Given the description of an element on the screen output the (x, y) to click on. 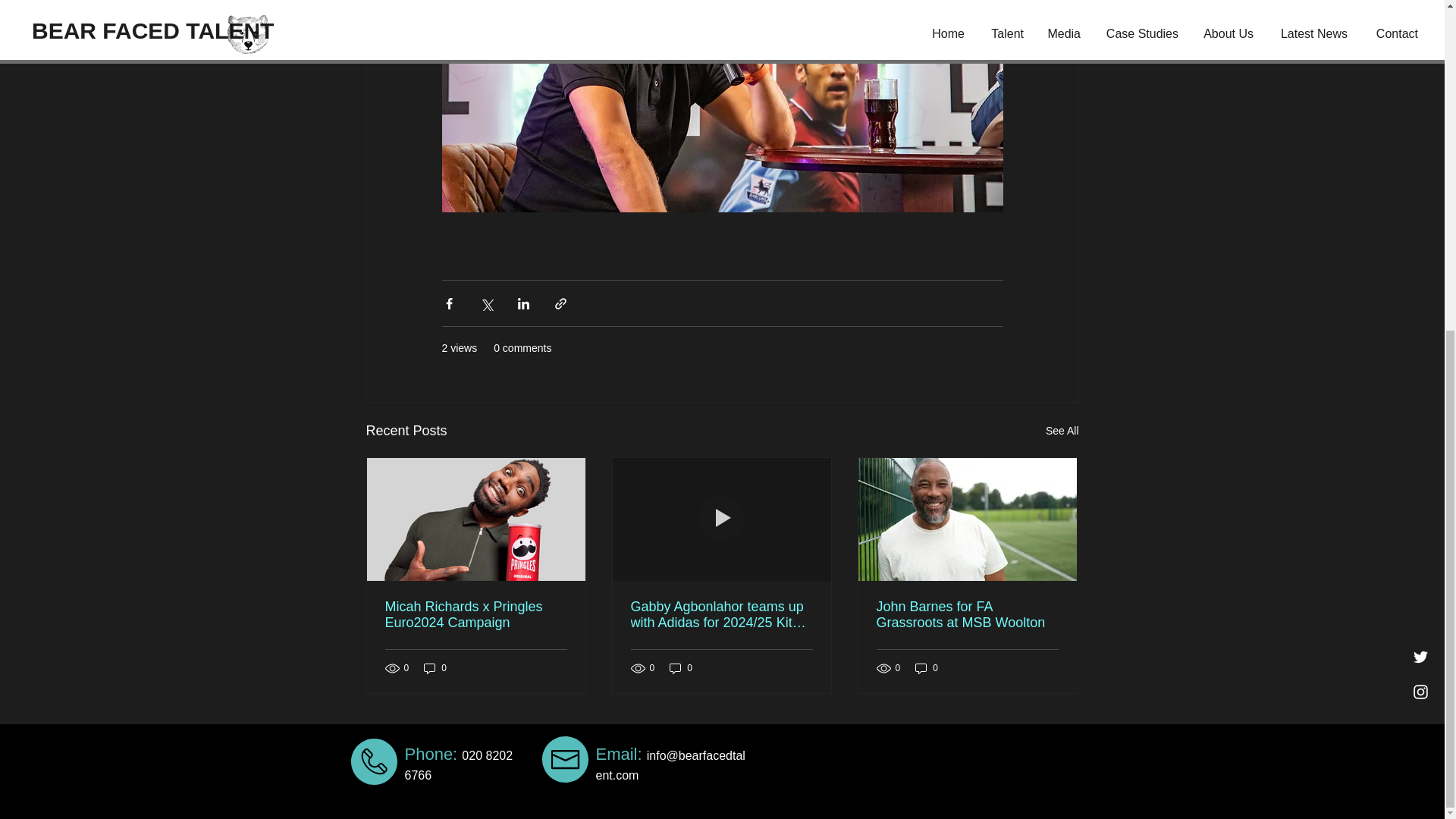
0 (681, 667)
0 (435, 667)
Micah Richards x Pringles Euro2024 Campaign (476, 614)
See All (1061, 431)
0 (926, 667)
John Barnes for FA Grassroots at MSB Woolton (967, 614)
